Given the description of an element on the screen output the (x, y) to click on. 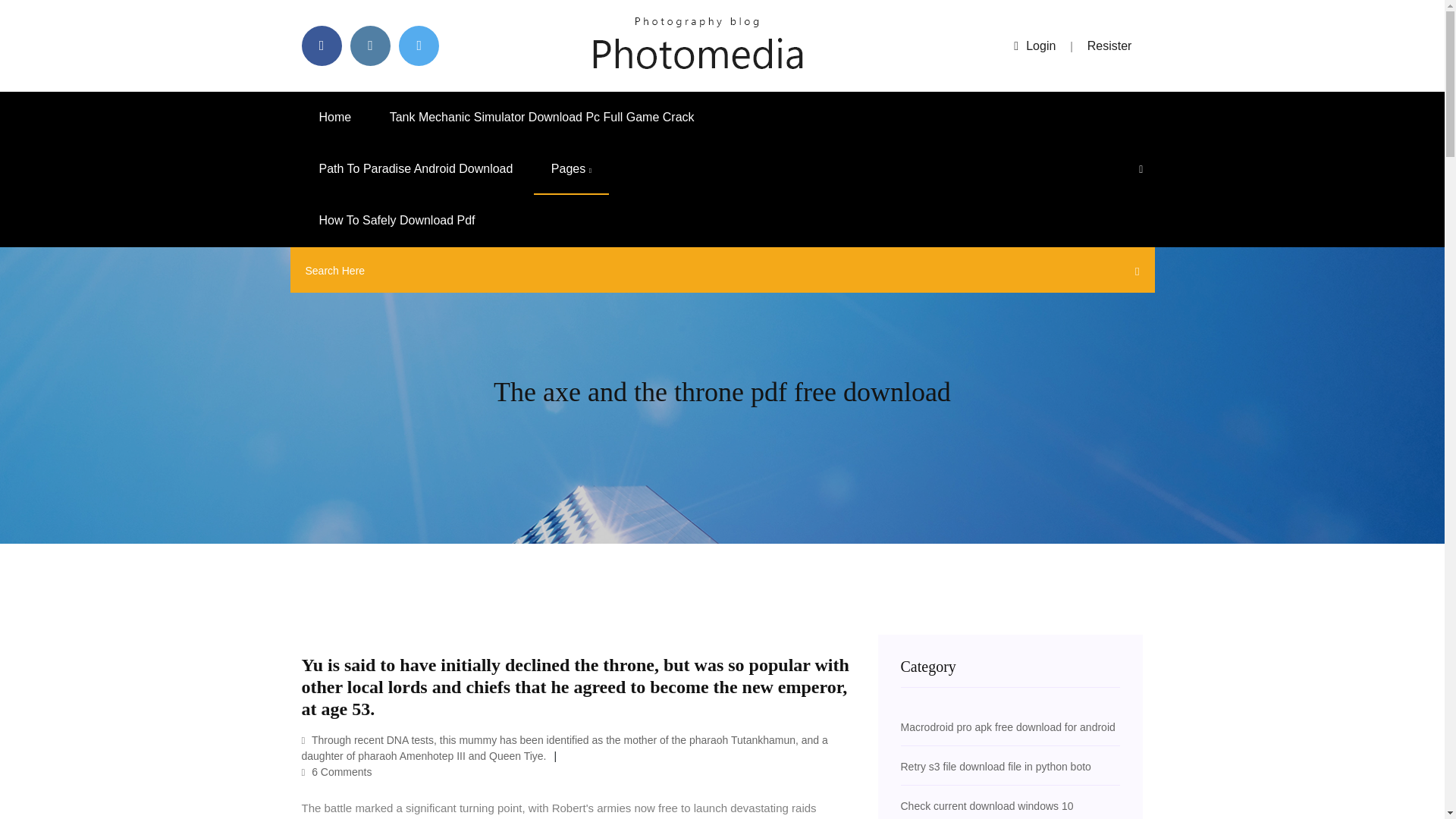
6 Comments (336, 771)
How To Safely Download Pdf (397, 220)
Path To Paradise Android Download (416, 168)
Resister (1109, 45)
Pages (571, 168)
Tank Mechanic Simulator Download Pc Full Game Crack (541, 117)
Login (1034, 45)
Home (335, 117)
